Given the description of an element on the screen output the (x, y) to click on. 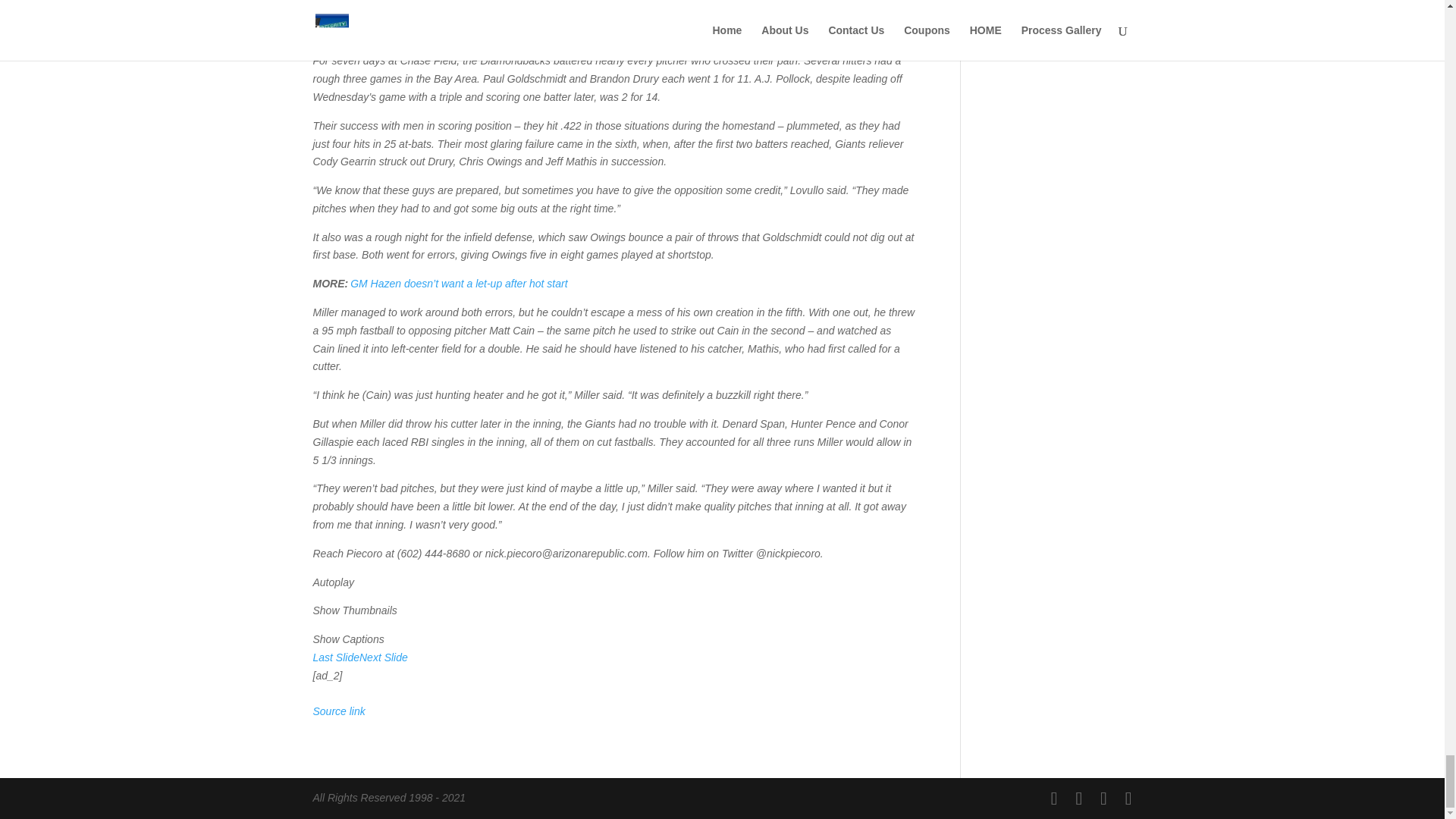
Source link (339, 711)
Next Slide (383, 657)
Last Slide (335, 657)
